Given the description of an element on the screen output the (x, y) to click on. 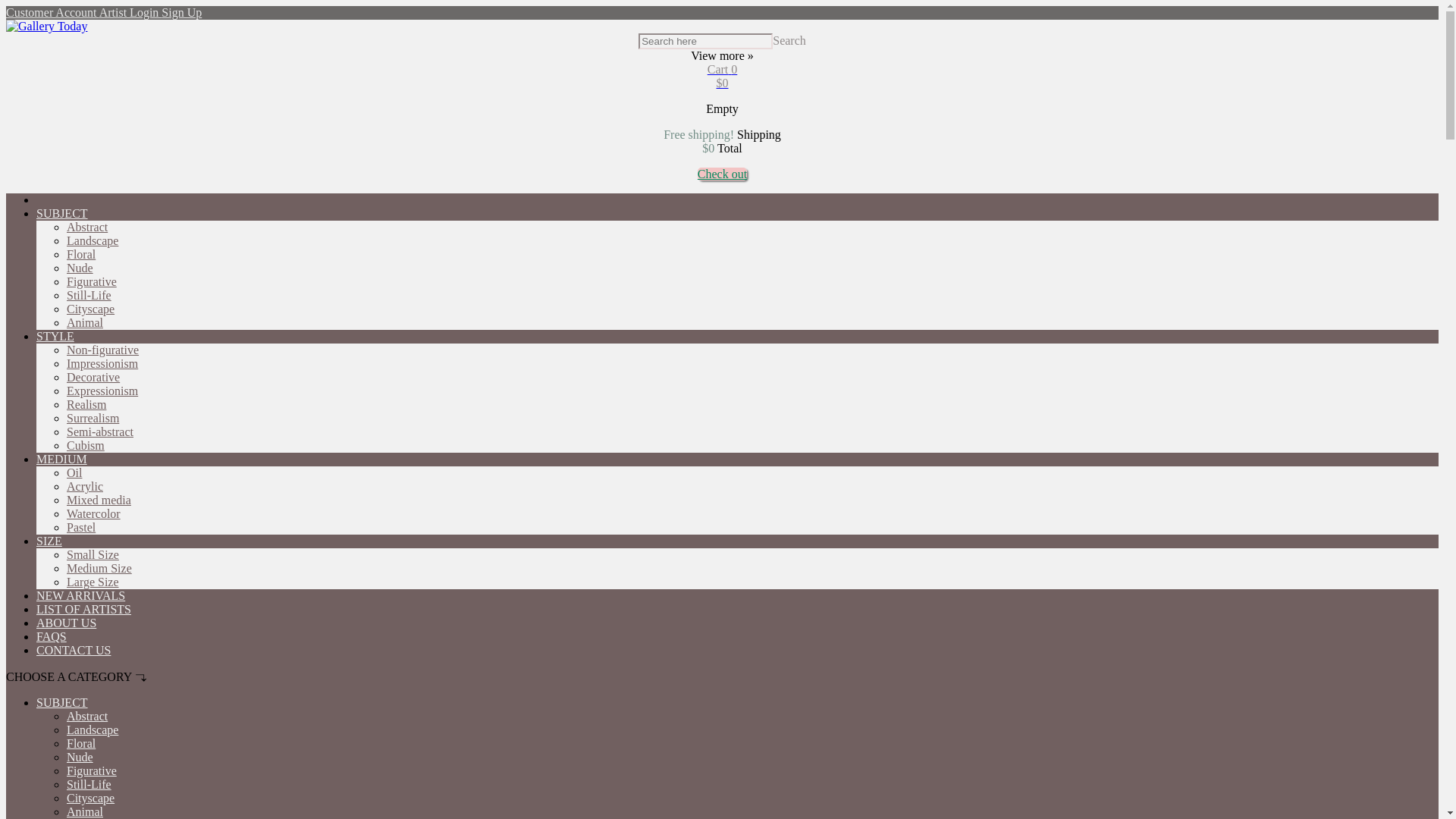
Search (789, 40)
Surrealism (92, 418)
FAQS (51, 635)
Abstract (86, 226)
SIZE (49, 540)
Oil (73, 472)
Impressionism (102, 363)
LIST OF ARTISTS (83, 608)
Decorative (92, 377)
Still-Life (89, 295)
